Given the description of an element on the screen output the (x, y) to click on. 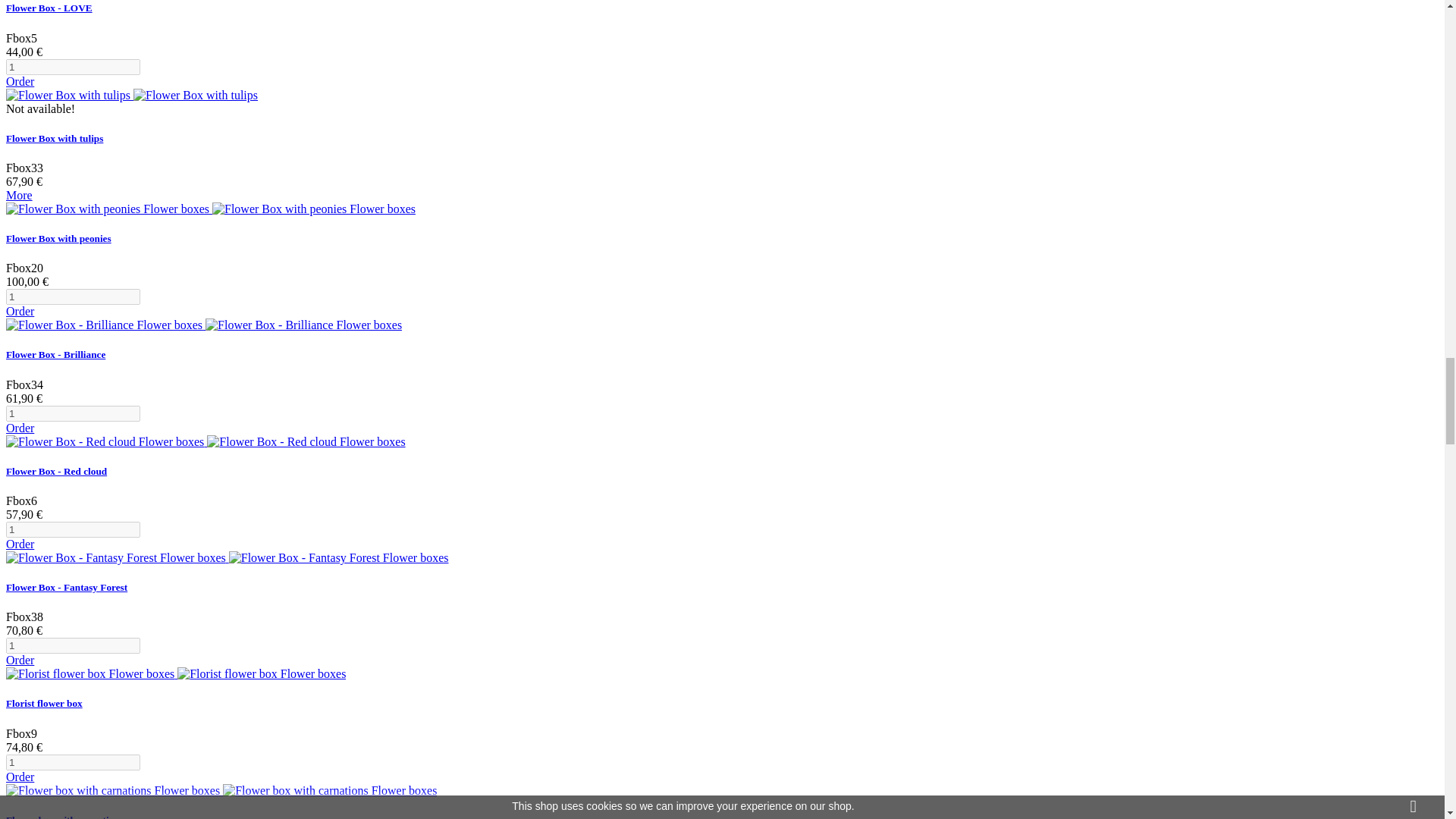
1 (72, 296)
1 (72, 413)
1 (72, 529)
1 (72, 66)
1 (72, 645)
1 (72, 762)
